Given the description of an element on the screen output the (x, y) to click on. 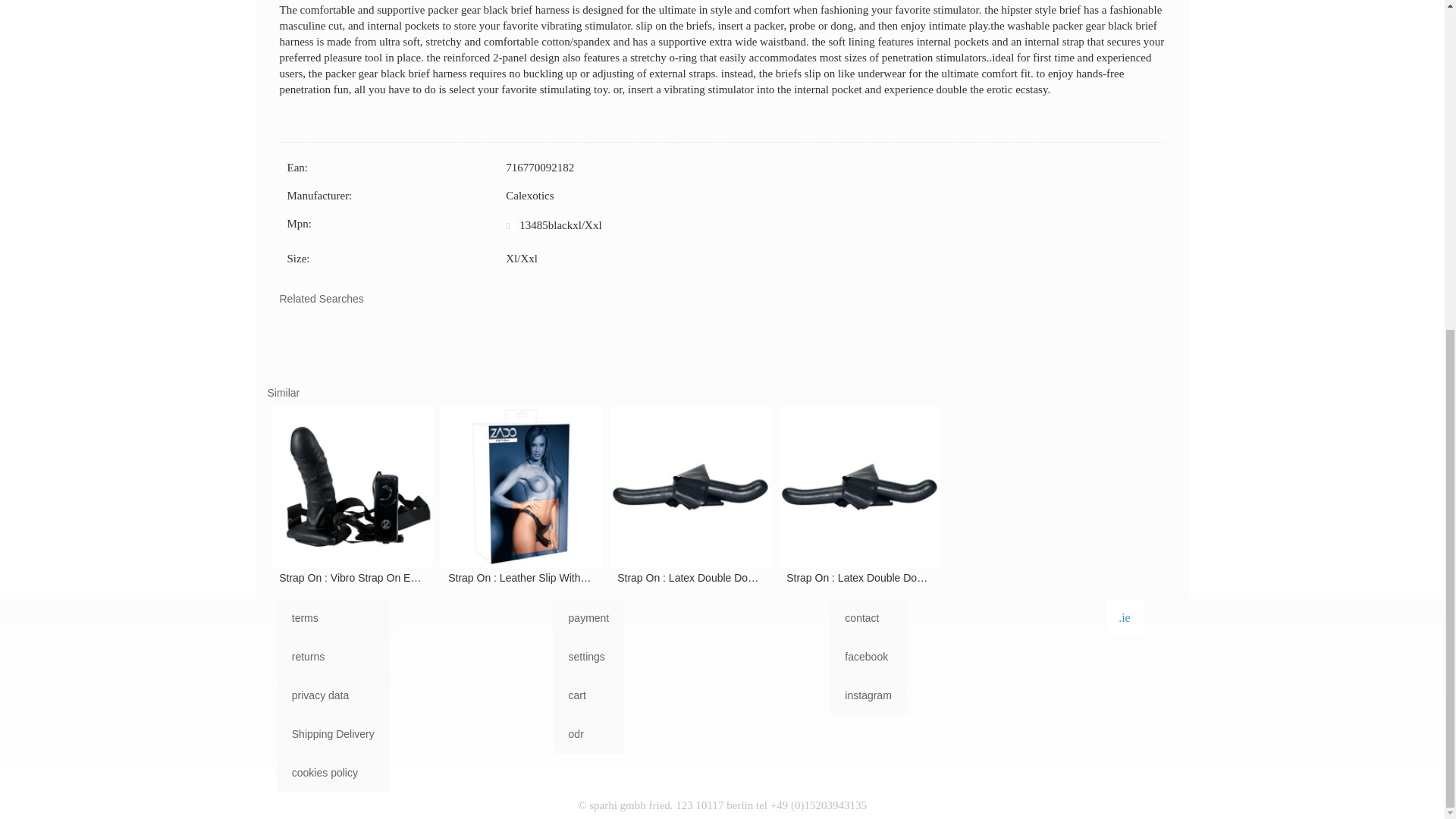
Strap On : Latex Double Dong Brief (690, 496)
settings (588, 657)
Strap On : Latex Double Dong Brief (858, 575)
Shipping Delivery (333, 733)
cart (588, 695)
Strap On : Leather Slip With Pvc Penis (520, 487)
Strap On : Latex Double Dong Brief (858, 577)
Strap On : Latex Double Dong Brief (690, 487)
terms (333, 618)
Strap On : Leather Slip With Pvc Penis (520, 577)
Strap On : Latex Double Dong Brief (858, 496)
returns (333, 657)
Strap On : Vibro Strap On Easy Rider (351, 487)
payment (588, 618)
privacy data (333, 695)
